Given the description of an element on the screen output the (x, y) to click on. 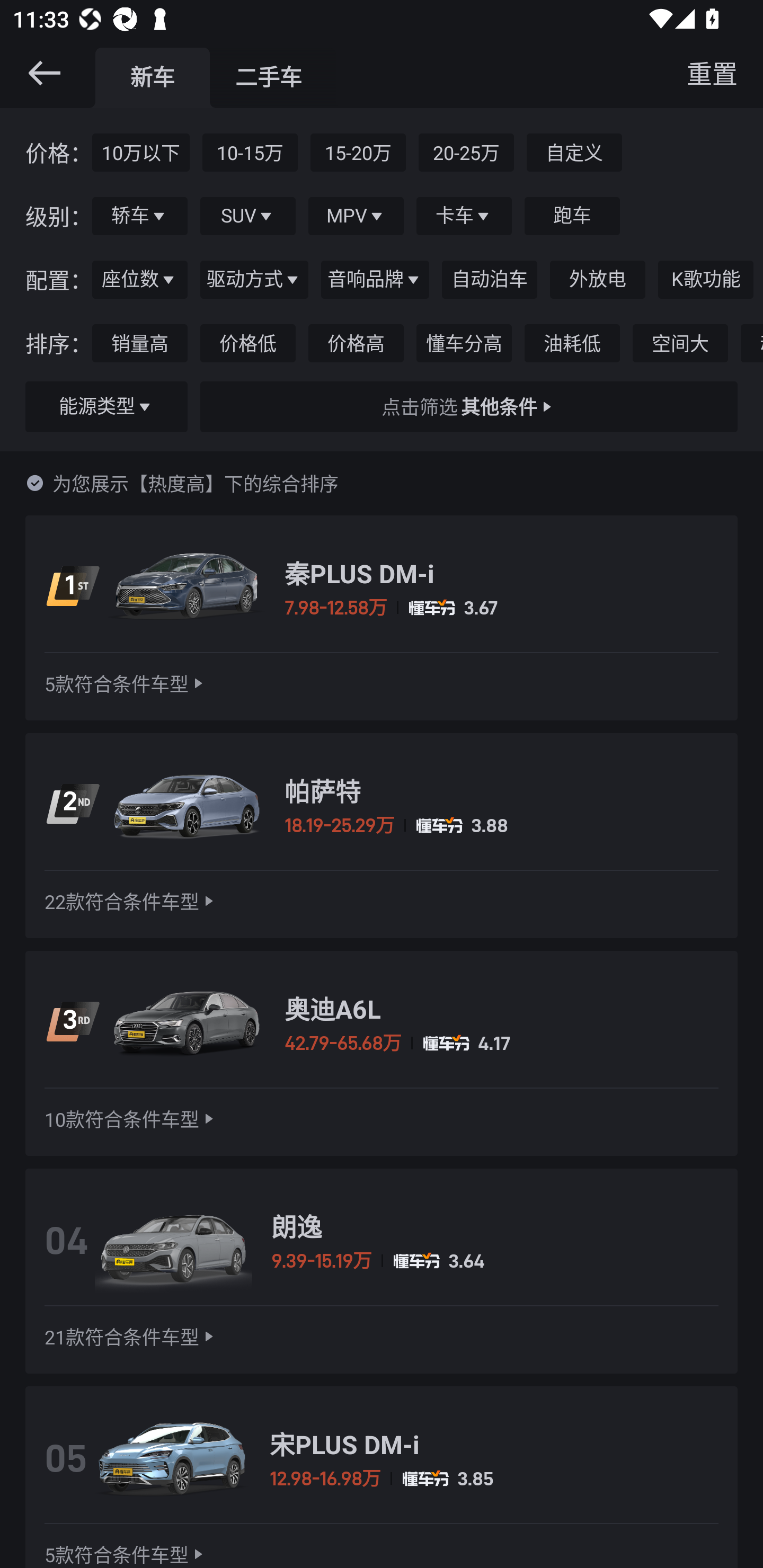
新车 (152, 77)
二手车 (268, 77)
 (44, 72)
重置 (711, 73)
10万以下 (140, 151)
10-15万 (249, 151)
15-20万 (357, 151)
20-25万 (466, 151)
自定义 (573, 151)
轿车 (139, 216)
SUV (247, 216)
MPV (355, 216)
卡车 (463, 216)
跑车 (571, 216)
座位数 (139, 279)
驱动方式 (253, 279)
音响品牌 (374, 279)
自动泊车 (489, 279)
外放电 (597, 279)
K歌功能 (705, 279)
销量高 (139, 343)
价格低 (247, 343)
价格高 (355, 343)
懂车分高 (463, 343)
油耗低 (571, 343)
空间大 (679, 343)
能源类型 (106, 406)
点击筛选 其他条件  (468, 406)
秦PLUS DM-i 7.98-12.58万 3.67 5款符合条件车型  (381, 617)
7.98-12.58万 3.67 (501, 607)
5款符合条件车型  (125, 683)
帕萨特 18.19-25.29万 3.88 22款符合条件车型  (381, 835)
18.19-25.29万 3.88 (501, 825)
22款符合条件车型  (131, 901)
奥迪A6L 42.79-65.68万 4.17 10款符合条件车型  (381, 1052)
42.79-65.68万 4.17 (501, 1042)
10款符合条件车型  (131, 1118)
04 朗逸 9.39-15.19万 3.64 21款符合条件车型  (381, 1270)
9.39-15.19万 3.64 (494, 1260)
21款符合条件车型  (131, 1336)
05 宋PLUS DM-i 12.98-16.98万 3.85 5款符合条件车型  (381, 1477)
12.98-16.98万 3.85 (493, 1478)
5款符合条件车型  (125, 1554)
